Given the description of an element on the screen output the (x, y) to click on. 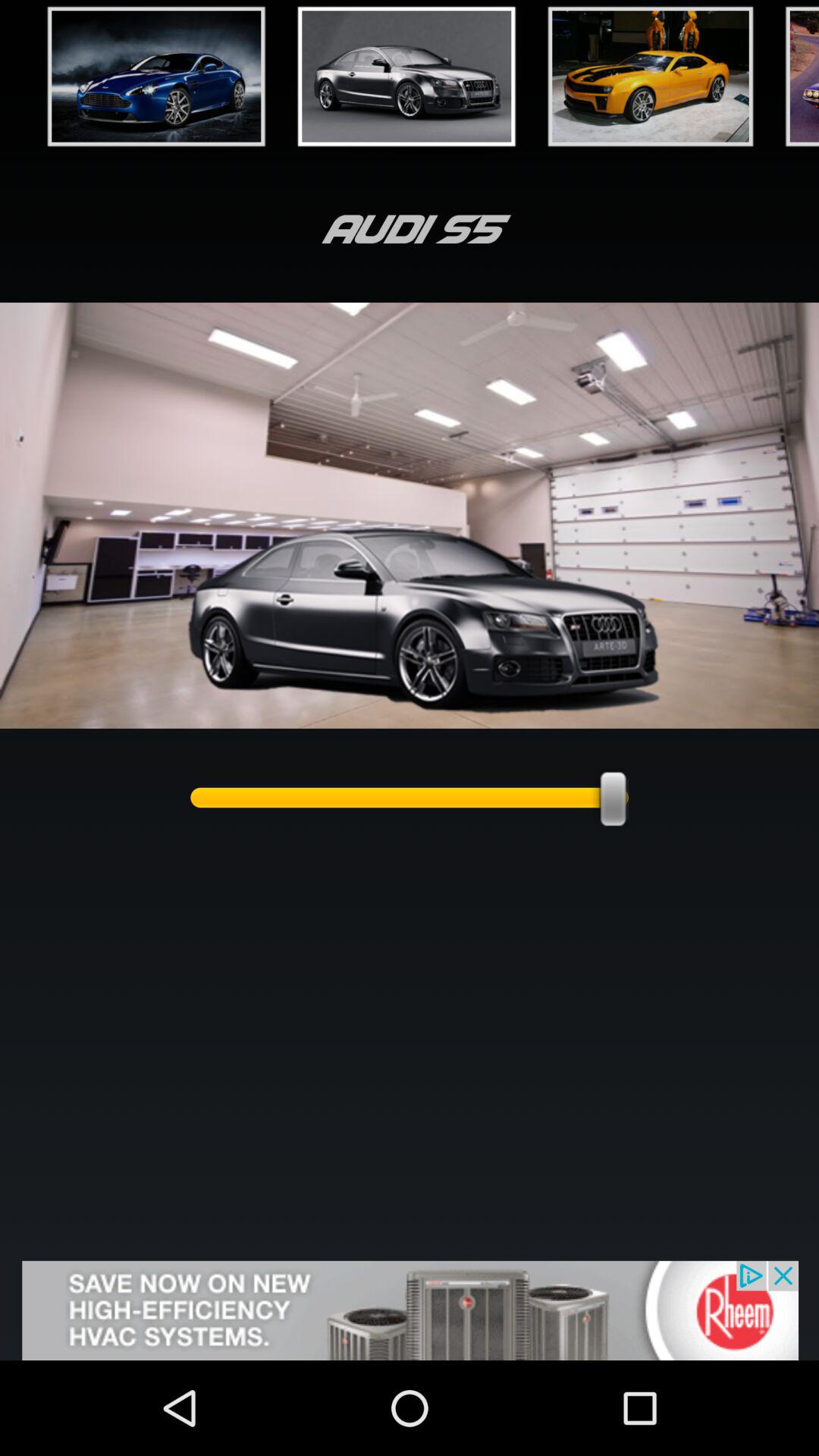
view the advertisement (409, 1310)
